Given the description of an element on the screen output the (x, y) to click on. 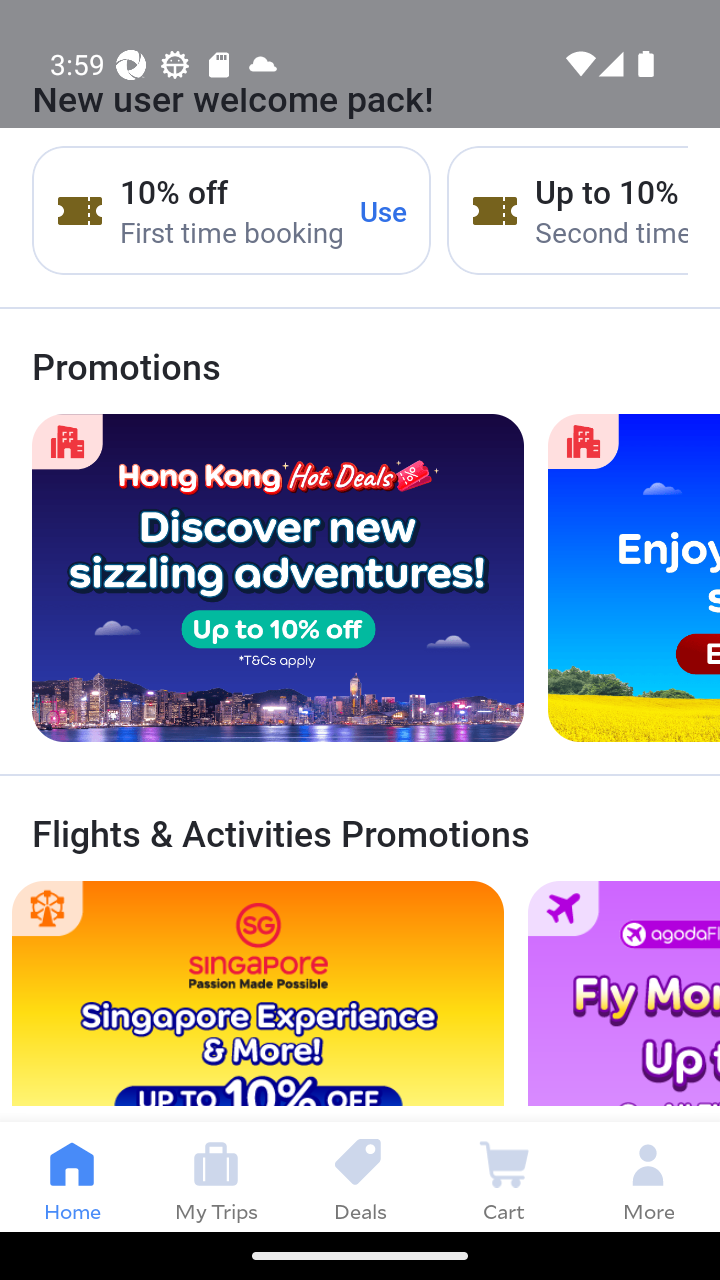
Use (384, 210)
Home (72, 1176)
My Trips (216, 1176)
Deals (360, 1176)
Cart (504, 1176)
More (648, 1176)
